Given the description of an element on the screen output the (x, y) to click on. 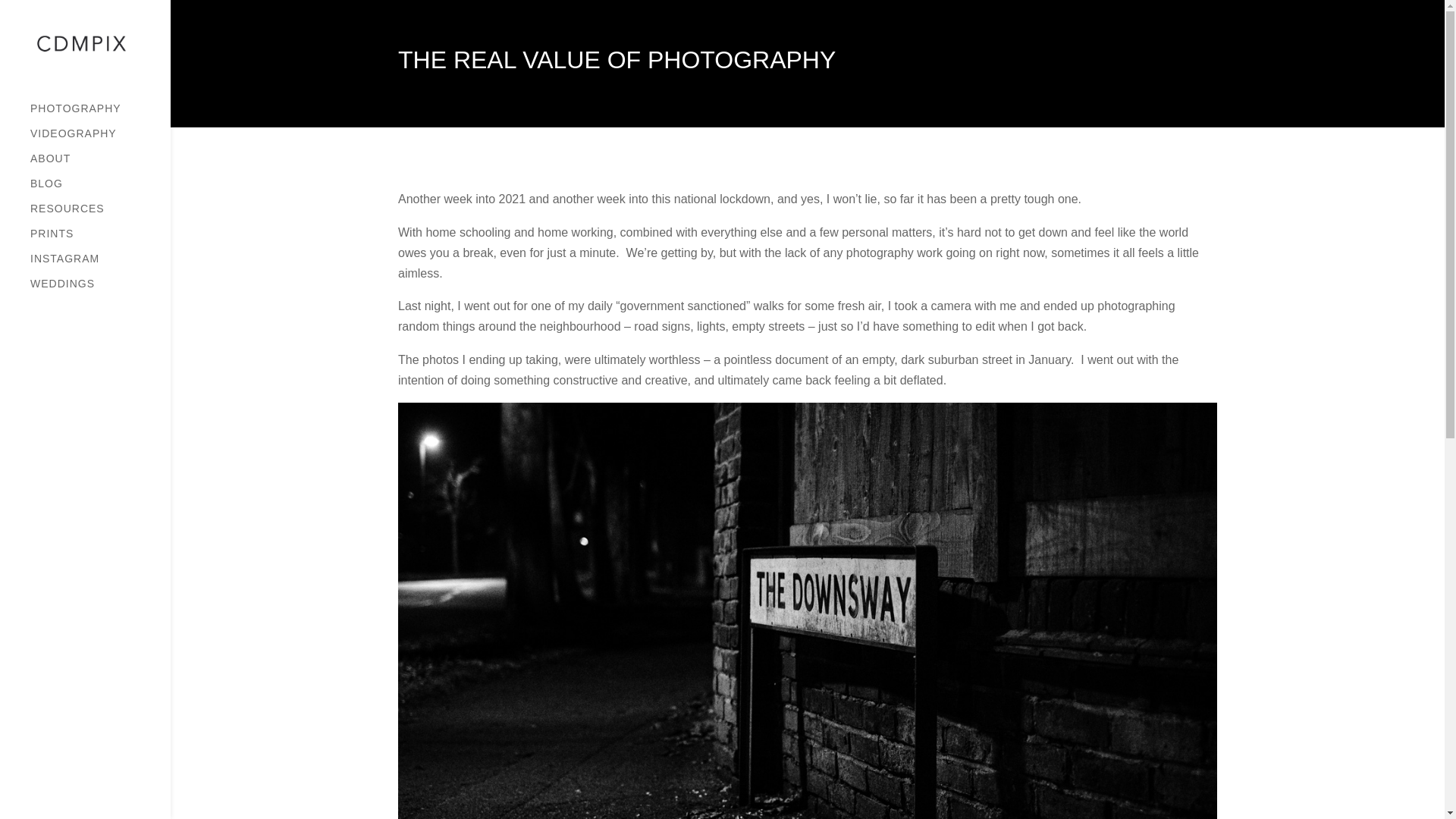
WEDDINGS (100, 290)
INSTAGRAM (100, 265)
BLOG (100, 190)
ABOUT (100, 165)
PHOTOGRAPHY (100, 115)
VIDEOGRAPHY (100, 140)
RESOURCES (100, 215)
PRINTS (100, 240)
